Given the description of an element on the screen output the (x, y) to click on. 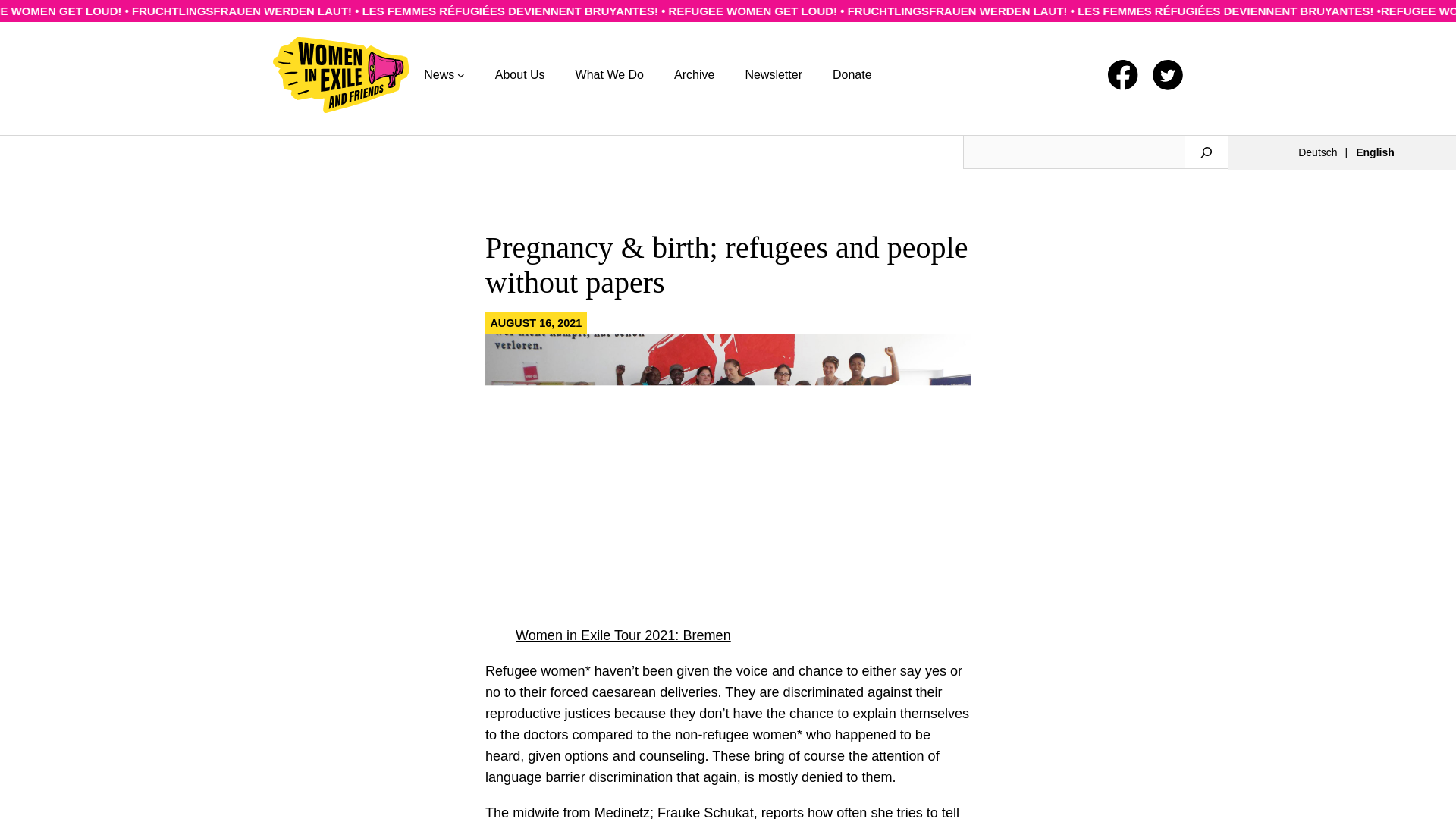
Donate (852, 75)
Newsletter (773, 75)
Deutsch (1323, 152)
Archive (694, 75)
What We Do (609, 75)
News (438, 75)
About Us (519, 75)
